Given the description of an element on the screen output the (x, y) to click on. 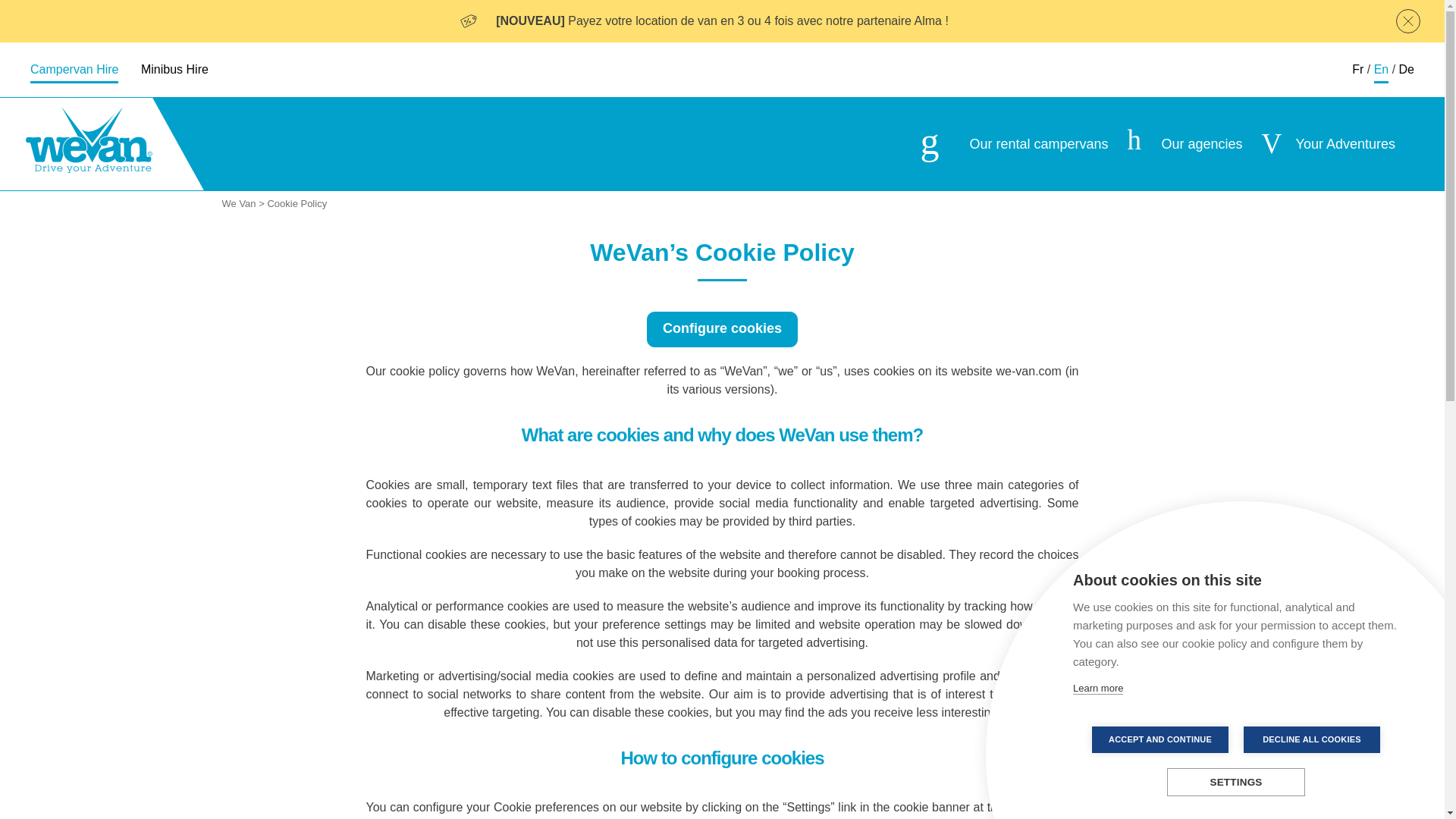
We Van (238, 205)
Campervan Hire (73, 69)
Minibus Hire (174, 69)
Configure cookies (721, 329)
Our agencies (1183, 144)
Your Adventures (1328, 144)
Our rental campervans (1014, 144)
